Given the description of an element on the screen output the (x, y) to click on. 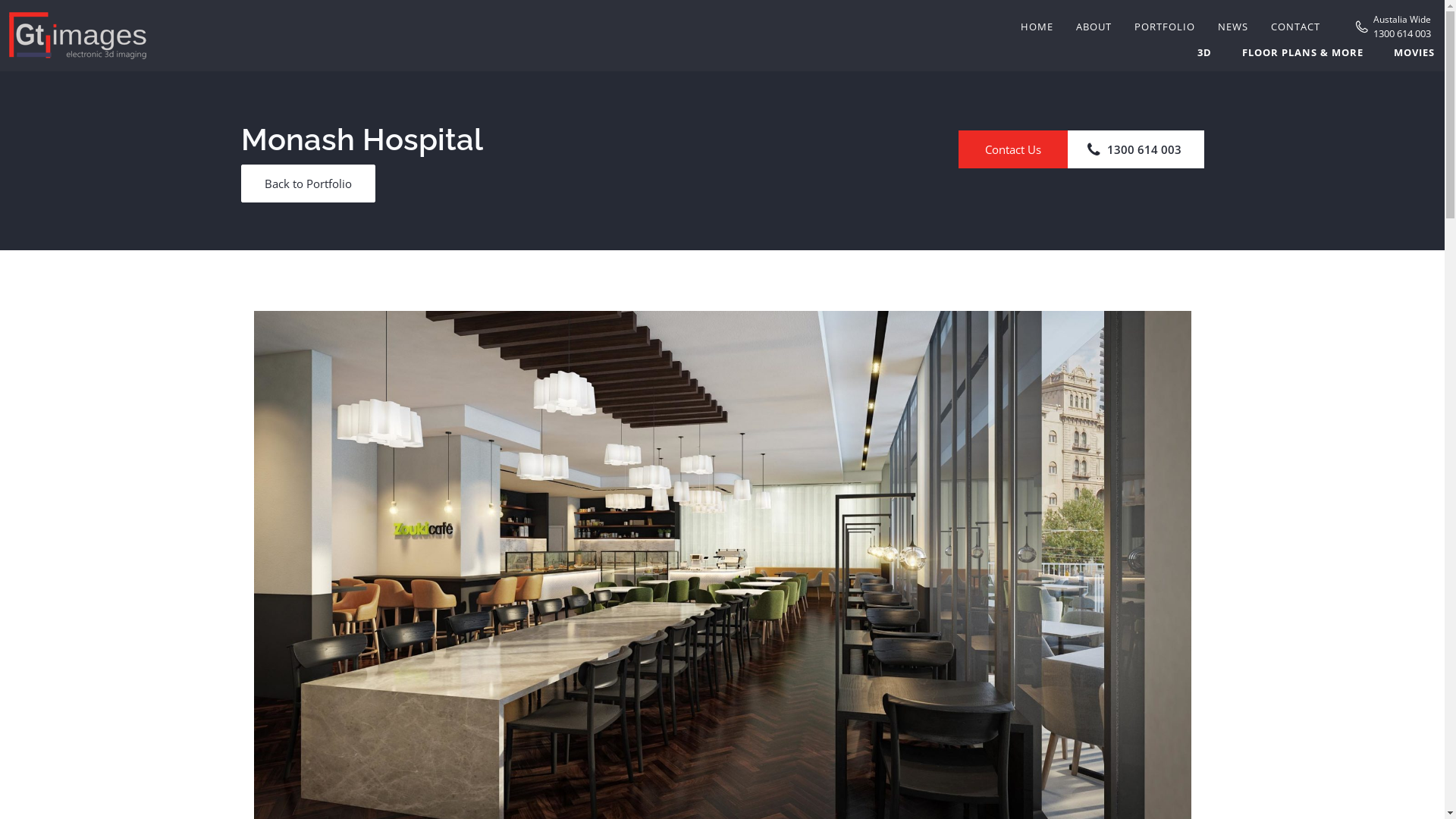
HOME Element type: text (1036, 26)
ABOUT Element type: text (1093, 26)
FLOOR PLANS & MORE Element type: text (1302, 50)
Back to Portfolio Element type: text (308, 183)
MOVIES Element type: text (1413, 50)
1300 614 003 Element type: text (1401, 31)
PORTFOLIO Element type: text (1164, 26)
NEWS Element type: text (1232, 26)
Search Element type: text (1139, 37)
Contact Us
1300 614 003 Element type: text (1081, 149)
3D Element type: text (1204, 50)
CONTACT Element type: text (1295, 26)
